Given the description of an element on the screen output the (x, y) to click on. 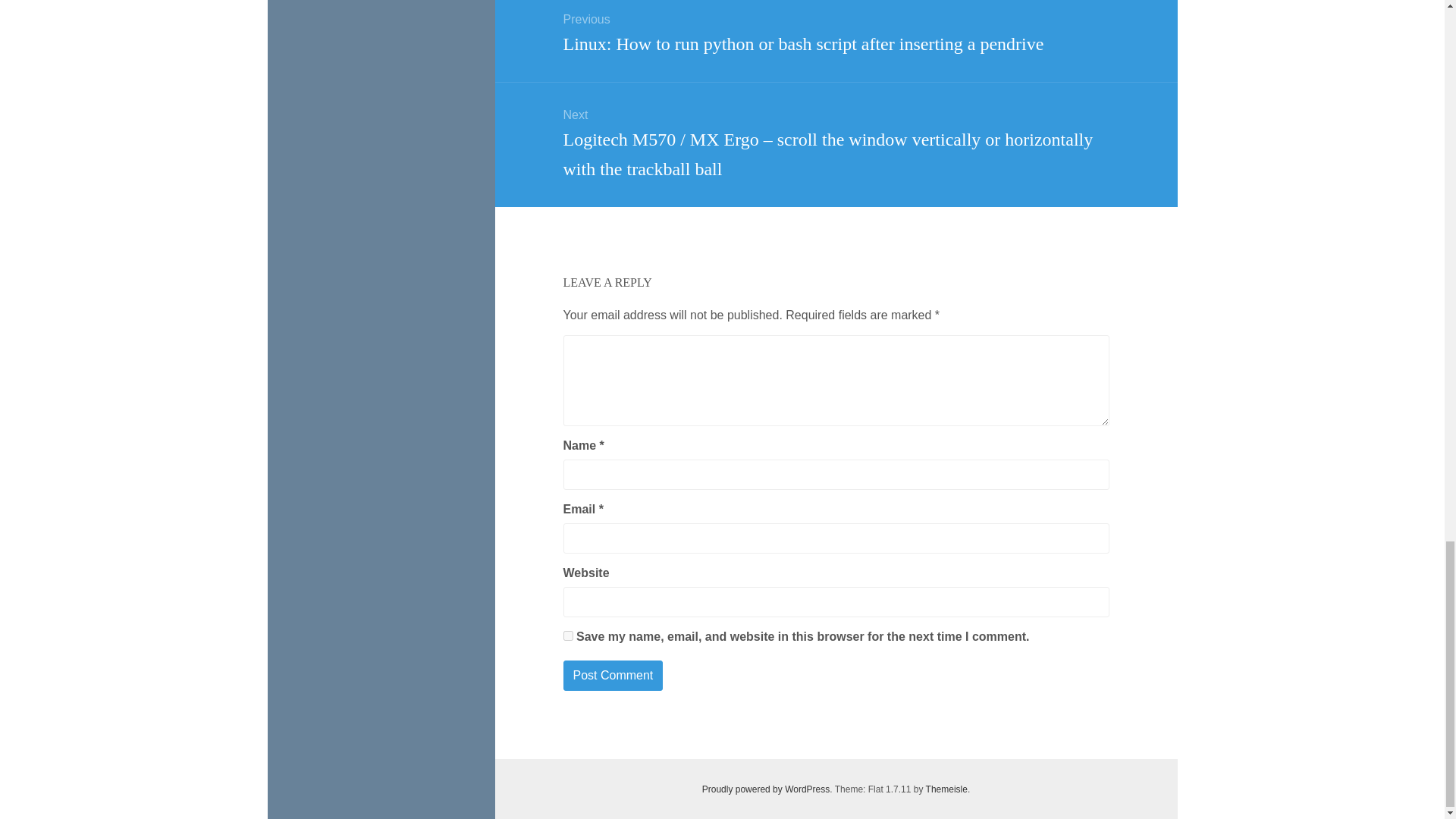
Flat WordPress Theme (947, 788)
Semantic Personal Publishing Platform (765, 788)
yes (567, 635)
Post Comment (612, 675)
